Given the description of an element on the screen output the (x, y) to click on. 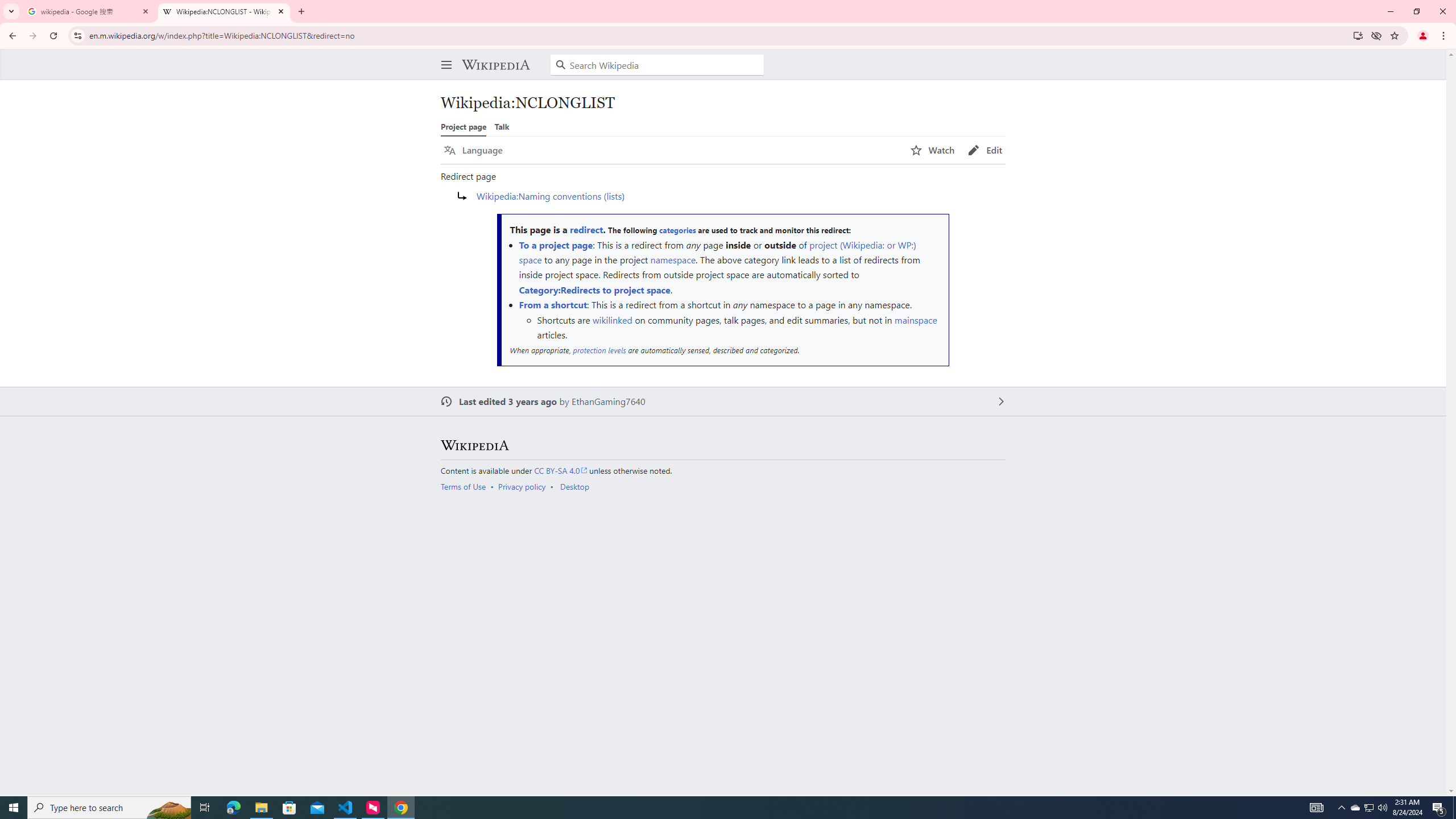
From a shortcut (553, 304)
Language (472, 149)
Wikipedia:NCLONGLIST - Wikipedia (224, 11)
Wikipedia (495, 64)
CC BY-SA 4.0 (561, 469)
AutomationID: footer-places-terms-use (466, 487)
categories (677, 230)
protection levels (599, 350)
Wikipedia:Naming conventions (lists) (550, 195)
